Given the description of an element on the screen output the (x, y) to click on. 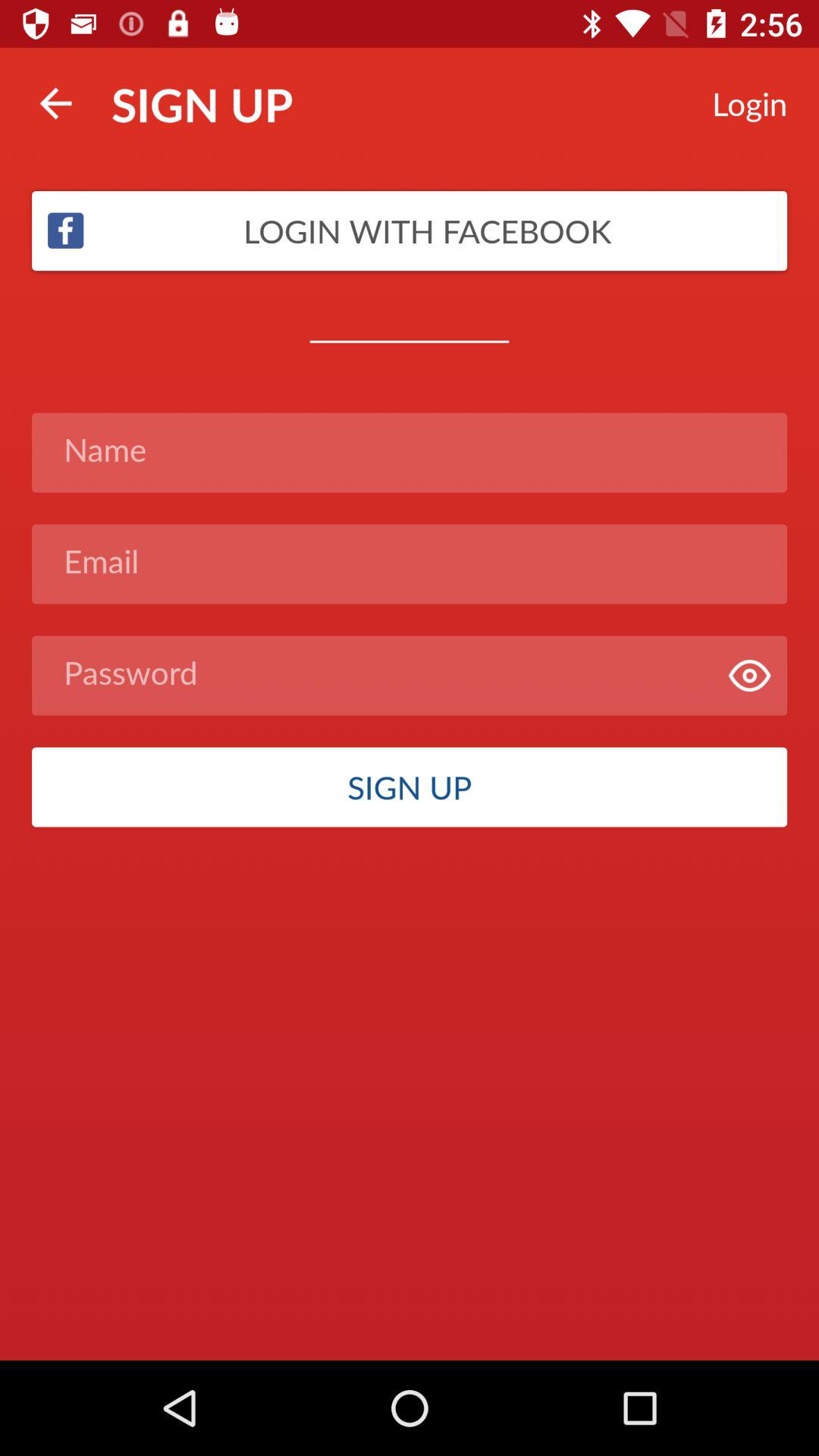
turn on icon next to the sign up item (55, 103)
